Given the description of an element on the screen output the (x, y) to click on. 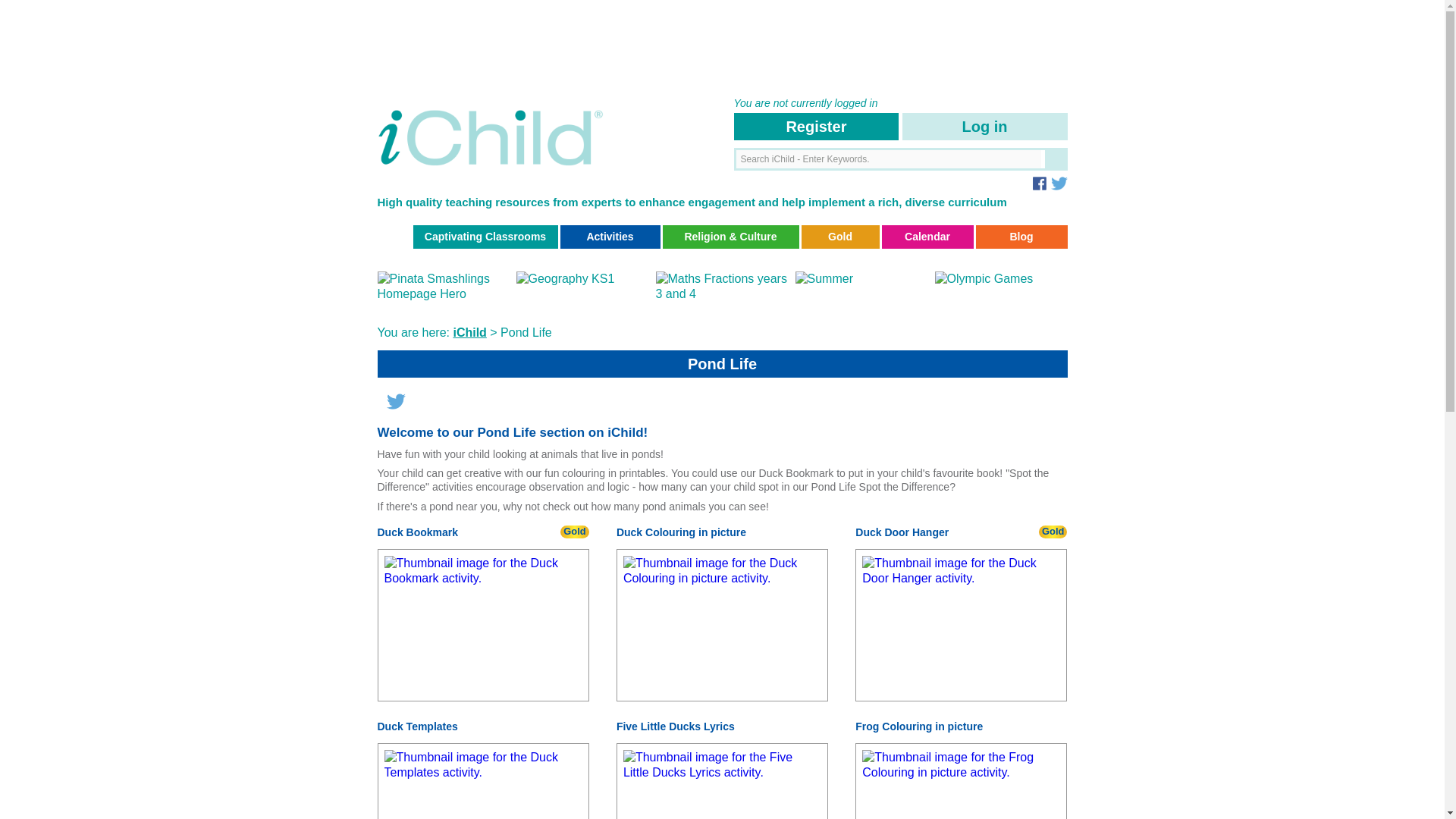
Register (816, 126)
Captivating Classrooms (484, 237)
Log in (984, 126)
